Given the description of an element on the screen output the (x, y) to click on. 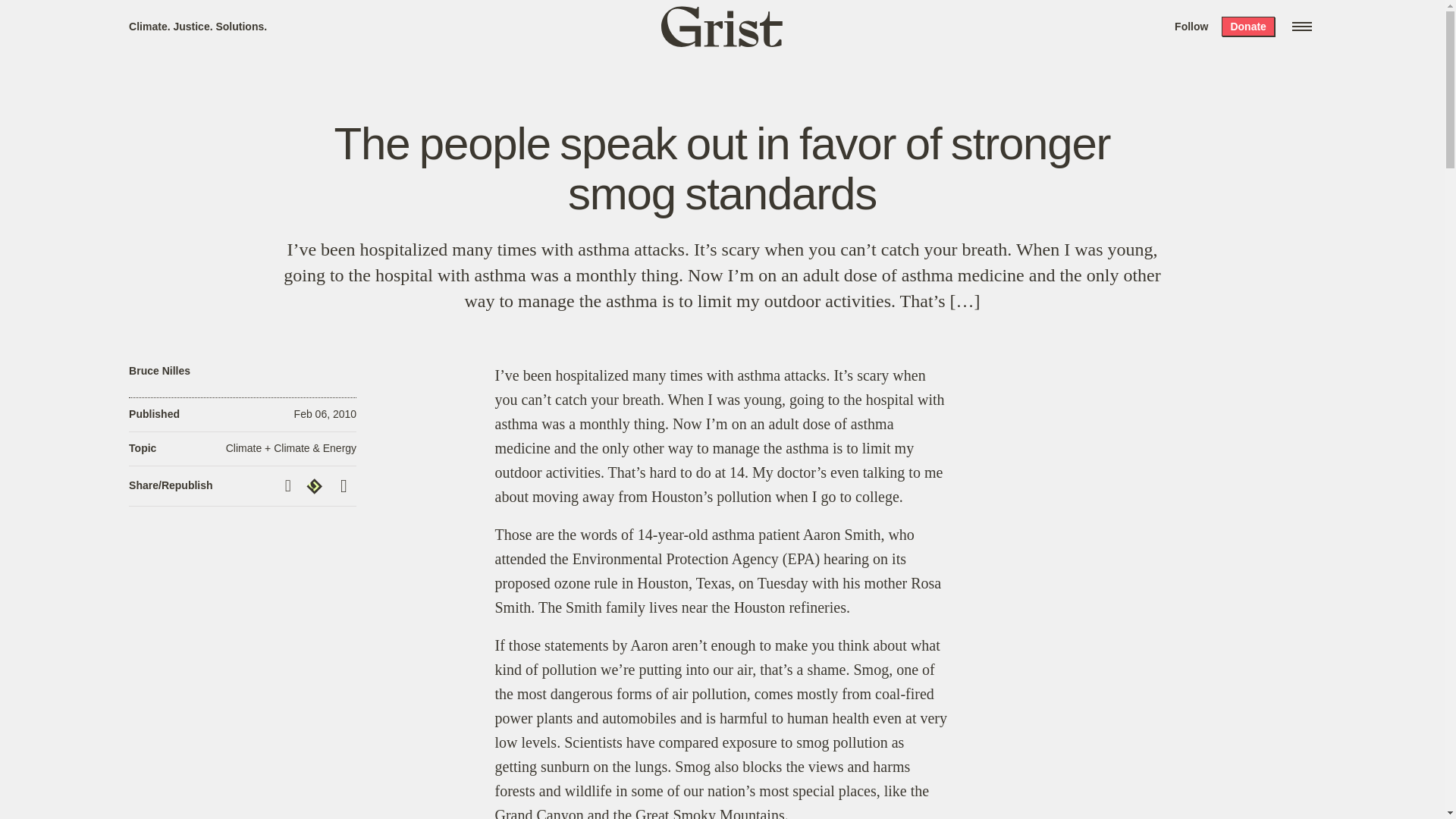
Bruce Nilles (159, 370)
Republish the article (316, 485)
Grist home (722, 25)
Search (227, 18)
Donate (1247, 26)
Copy article link (289, 485)
Follow (1191, 26)
